Given the description of an element on the screen output the (x, y) to click on. 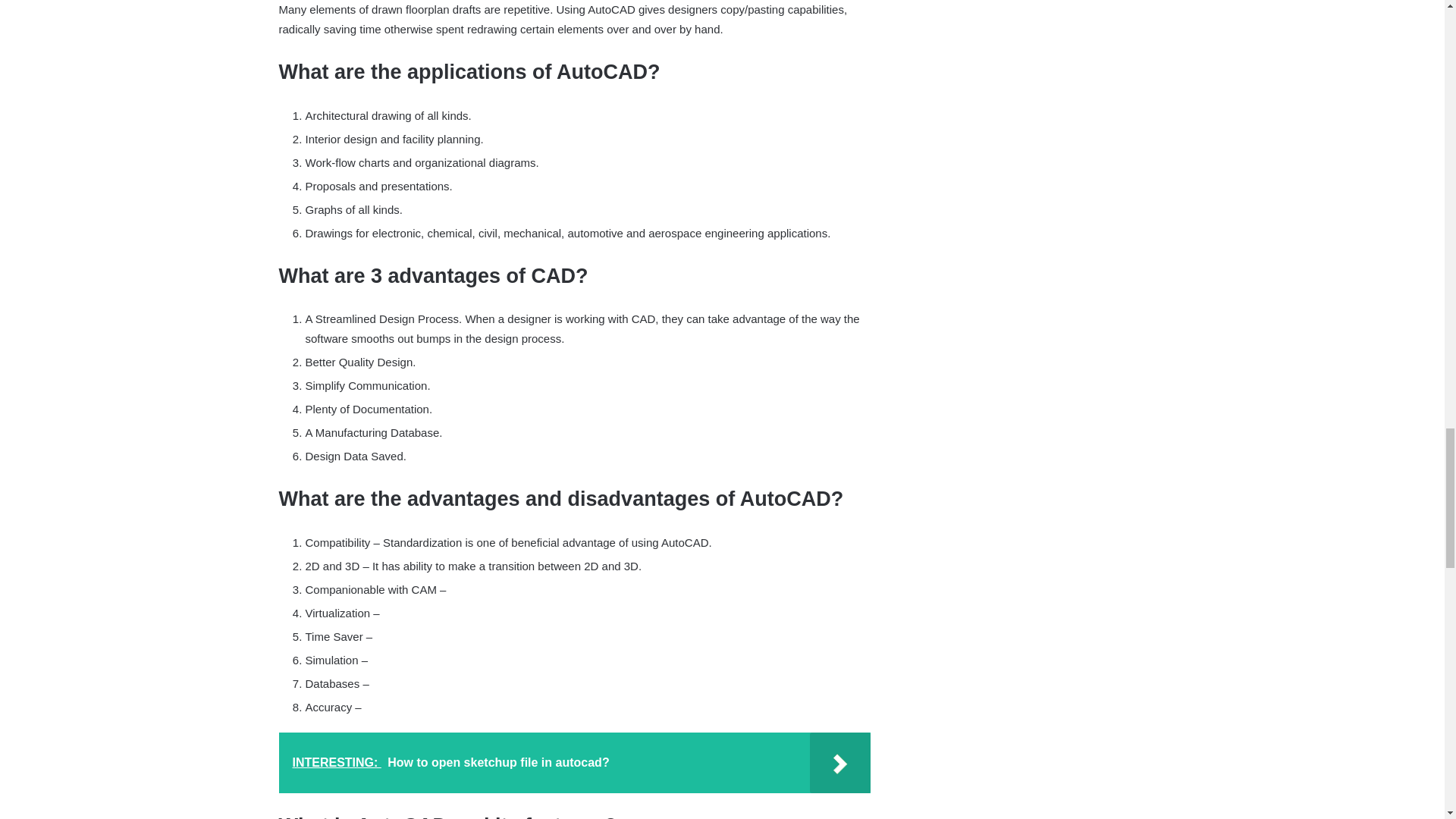
INTERESTING:   How to open sketchup file in autocad? (574, 762)
